Given the description of an element on the screen output the (x, y) to click on. 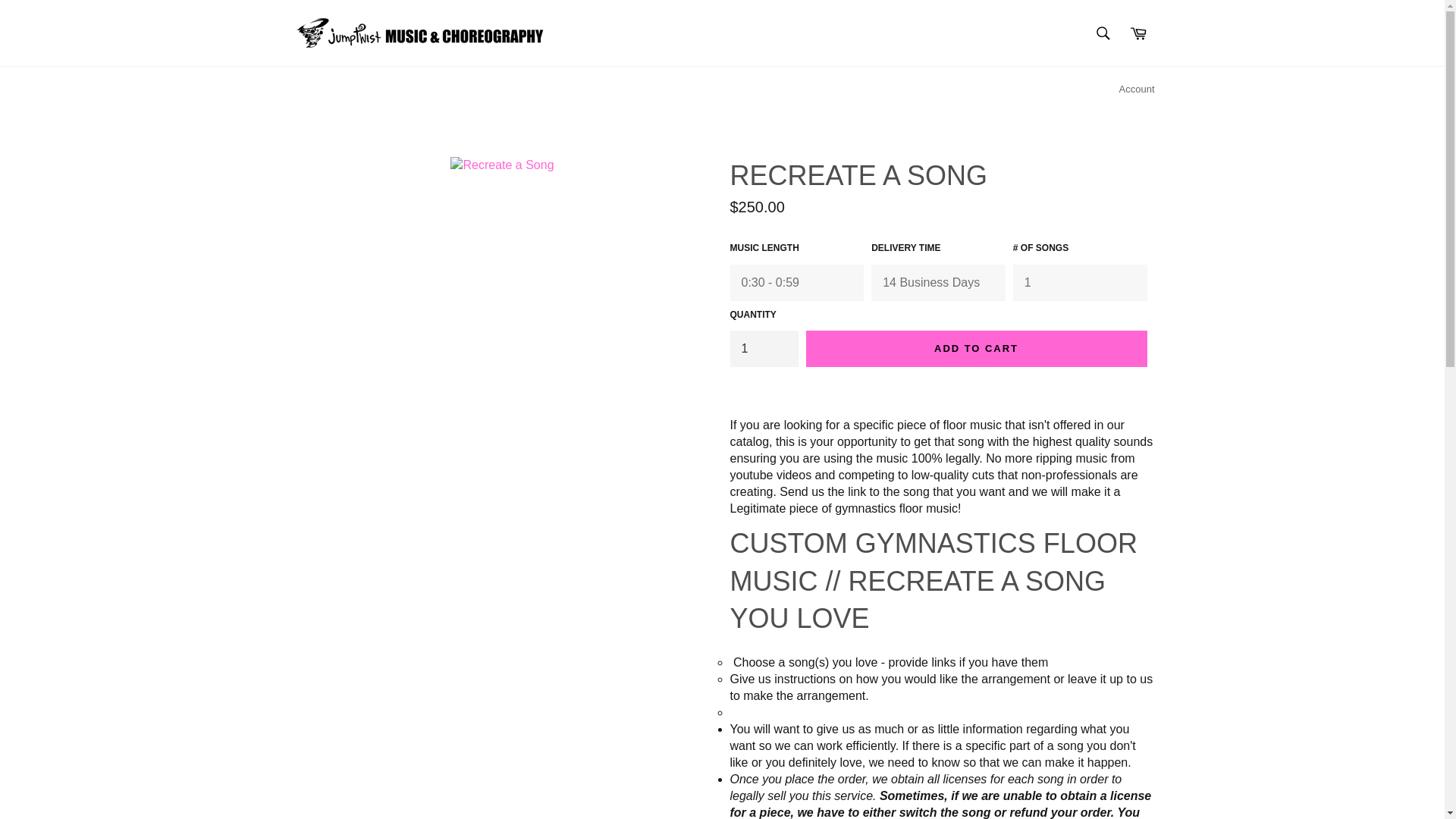
1 (763, 348)
